Given the description of an element on the screen output the (x, y) to click on. 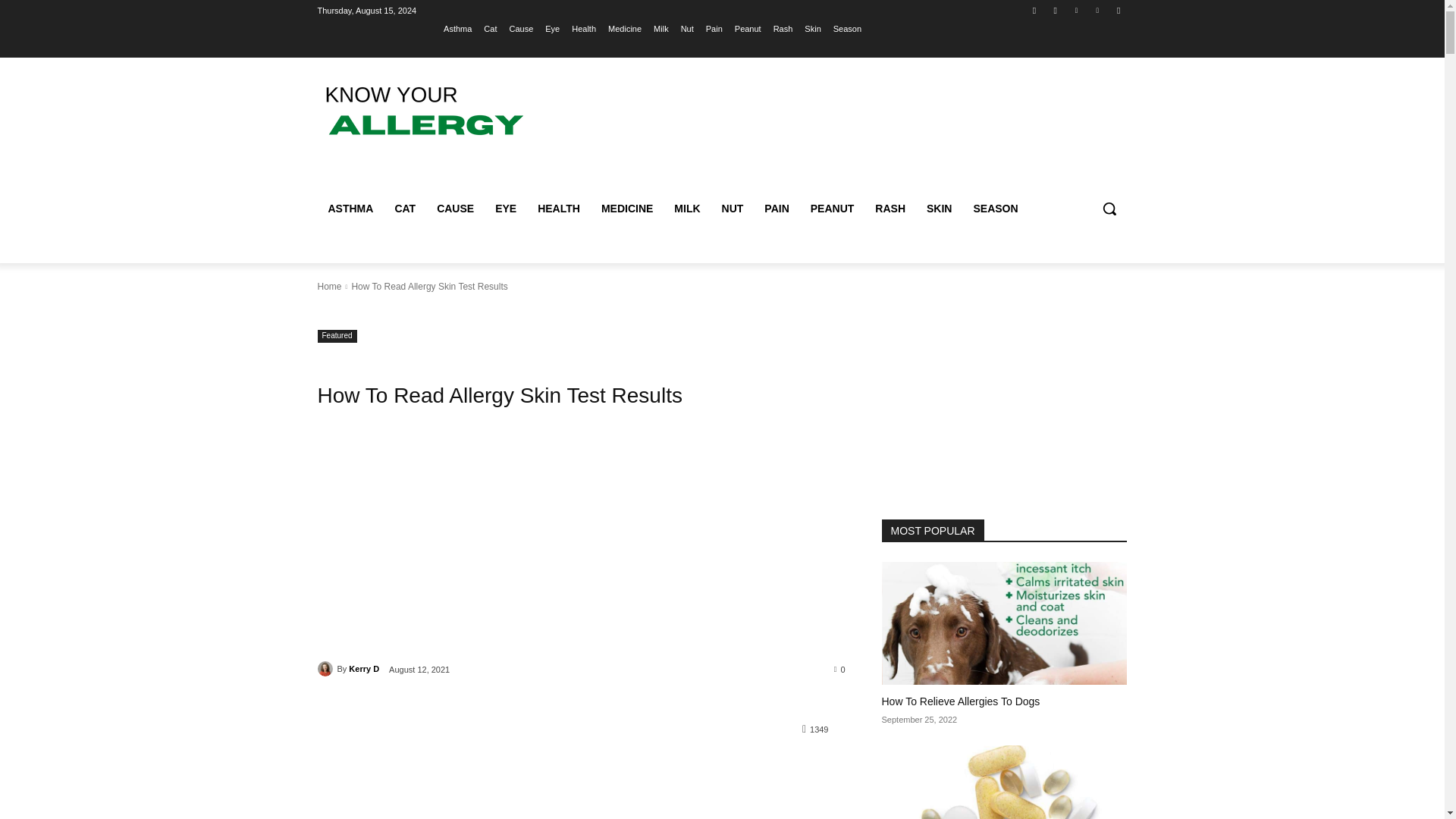
Peanut (748, 28)
Know Your Allergy (426, 112)
Advertisement (580, 551)
Instagram (1055, 9)
Facebook (1034, 9)
Medicine (625, 28)
Youtube (1117, 9)
Kerry D (326, 668)
Health (583, 28)
Twitter (1075, 9)
